Given the description of an element on the screen output the (x, y) to click on. 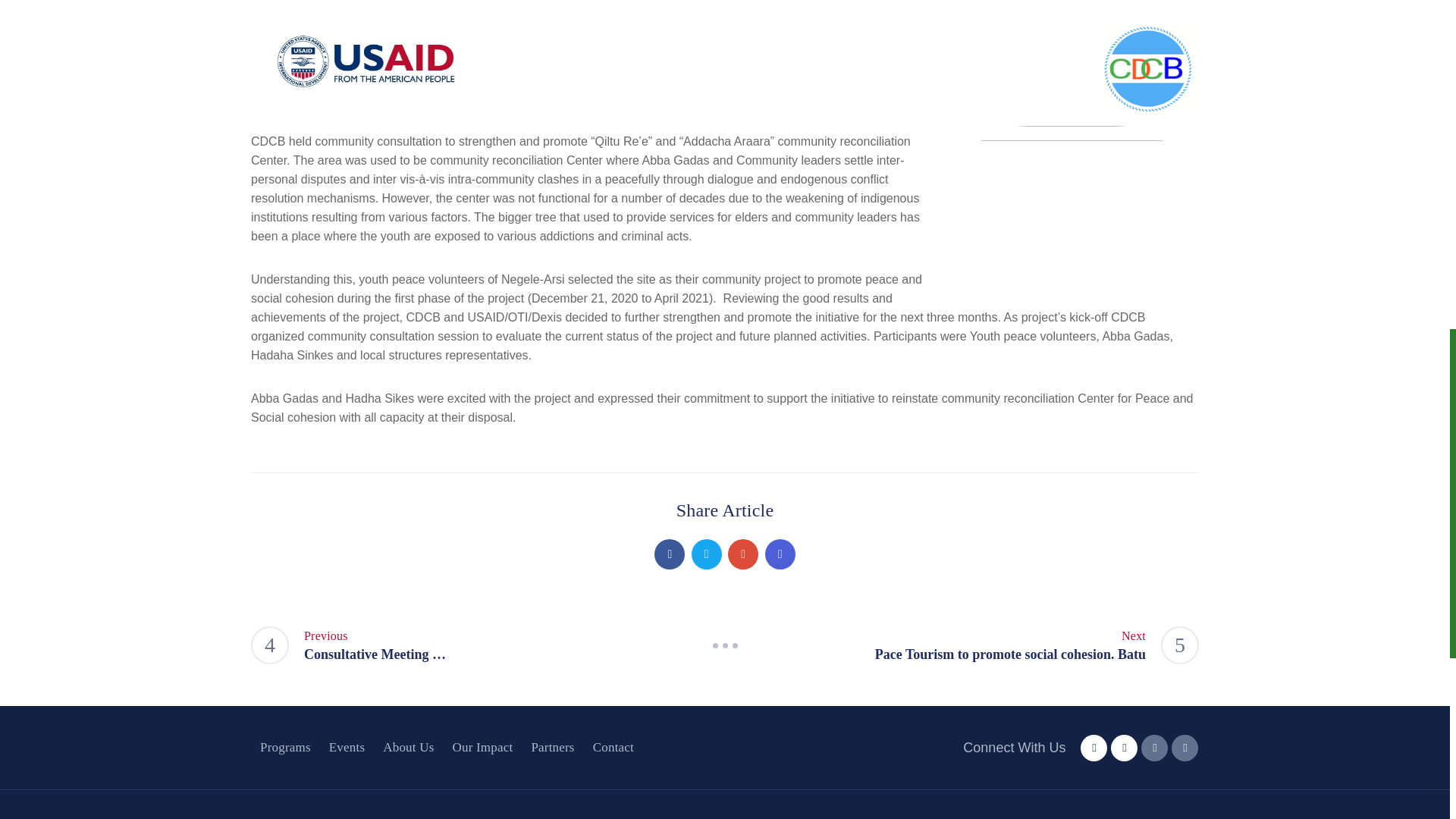
Linkedin (779, 553)
Facebook (668, 553)
Twitter (706, 553)
Events (347, 747)
Programs (285, 747)
Slash (725, 645)
Pinterest (971, 645)
About Us (743, 553)
